Given the description of an element on the screen output the (x, y) to click on. 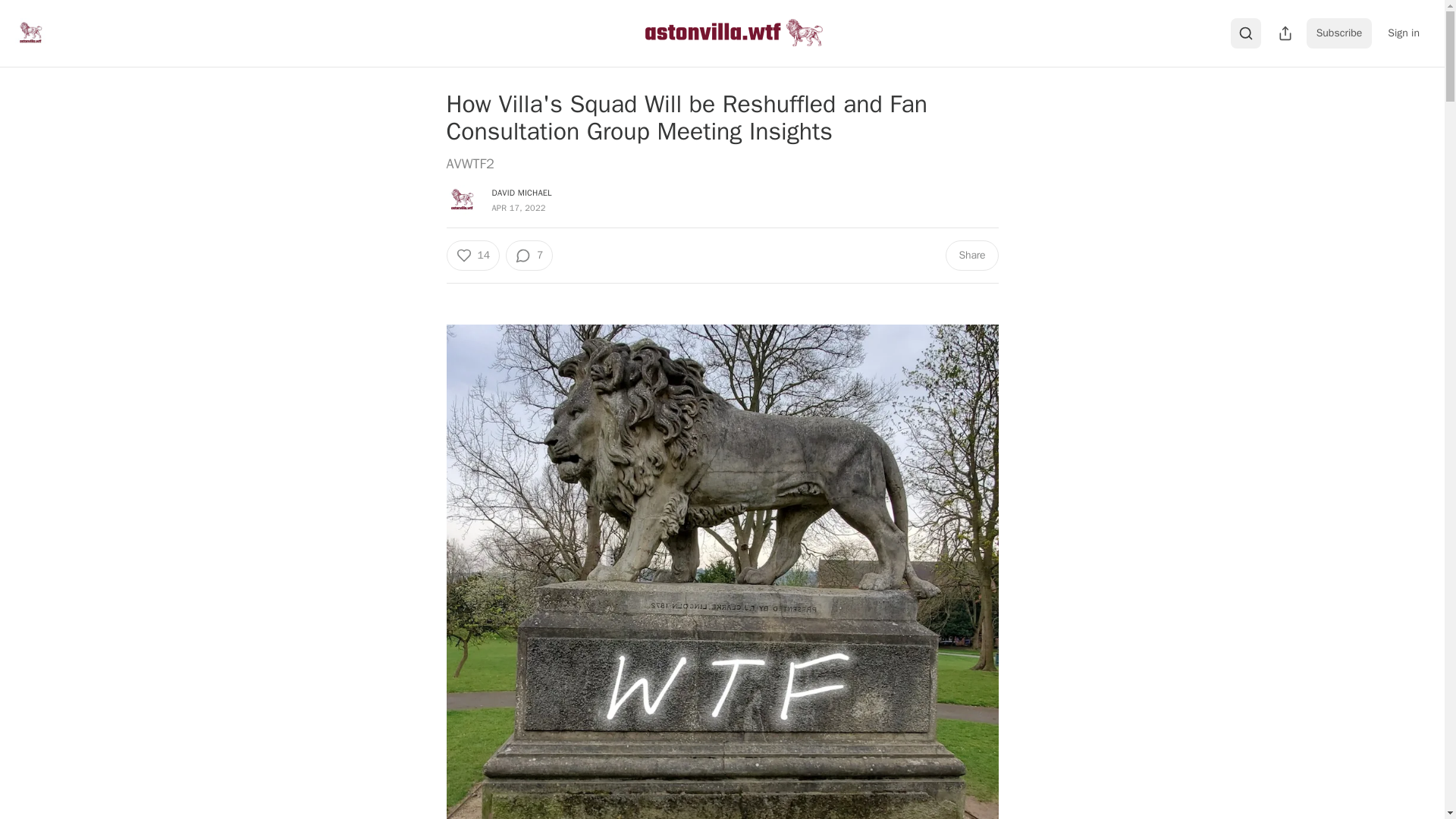
7 (529, 255)
Subscribe (1339, 33)
DAVID MICHAEL (521, 192)
Share (970, 255)
14 (472, 255)
Sign in (1403, 33)
